Given the description of an element on the screen output the (x, y) to click on. 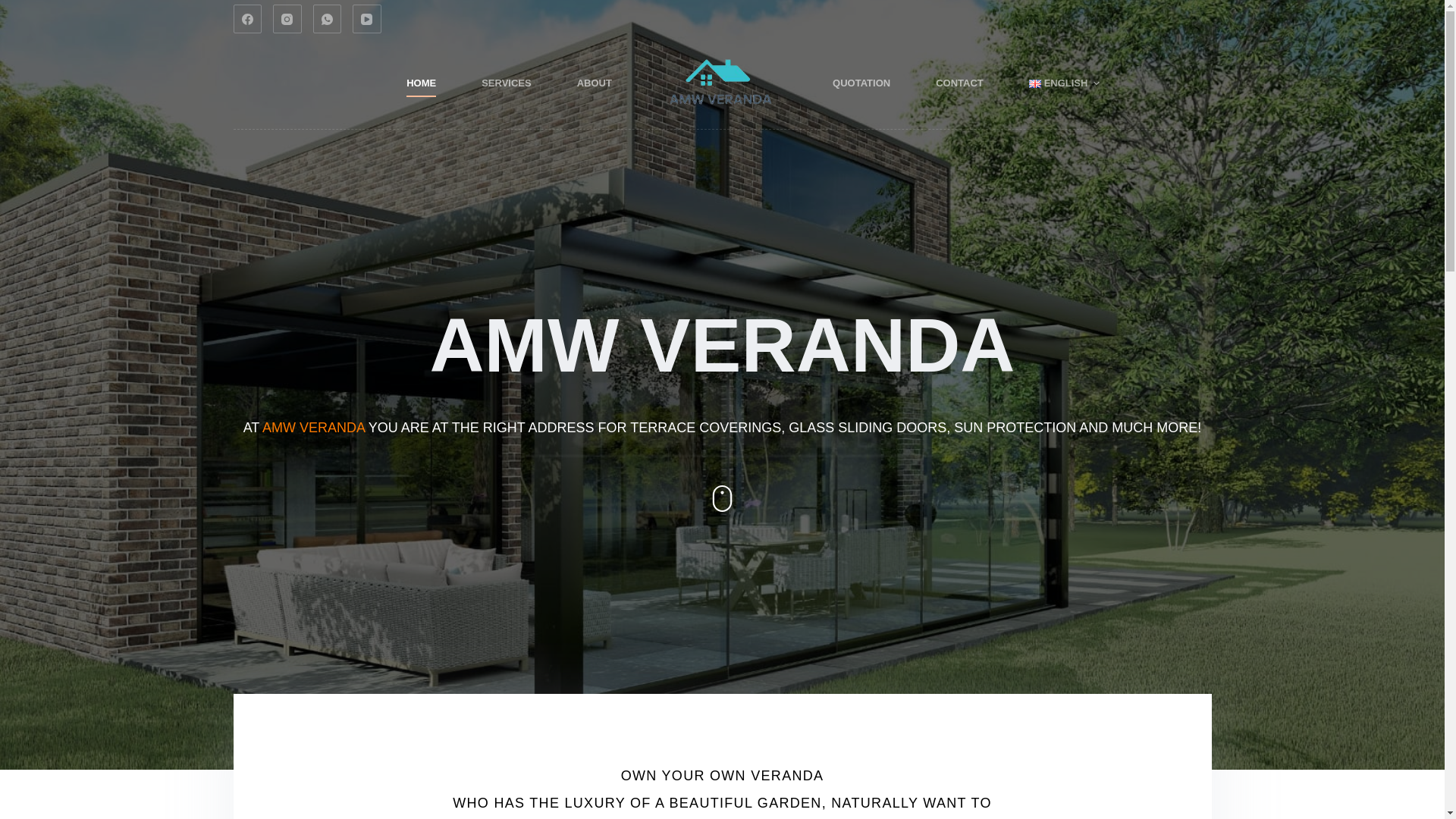
CONTACT (959, 83)
QUOTATION (860, 83)
Skip to content (15, 7)
ABOUT (594, 83)
ENGLISH (1064, 83)
SERVICES (506, 83)
HOME (421, 83)
